Given the description of an element on the screen output the (x, y) to click on. 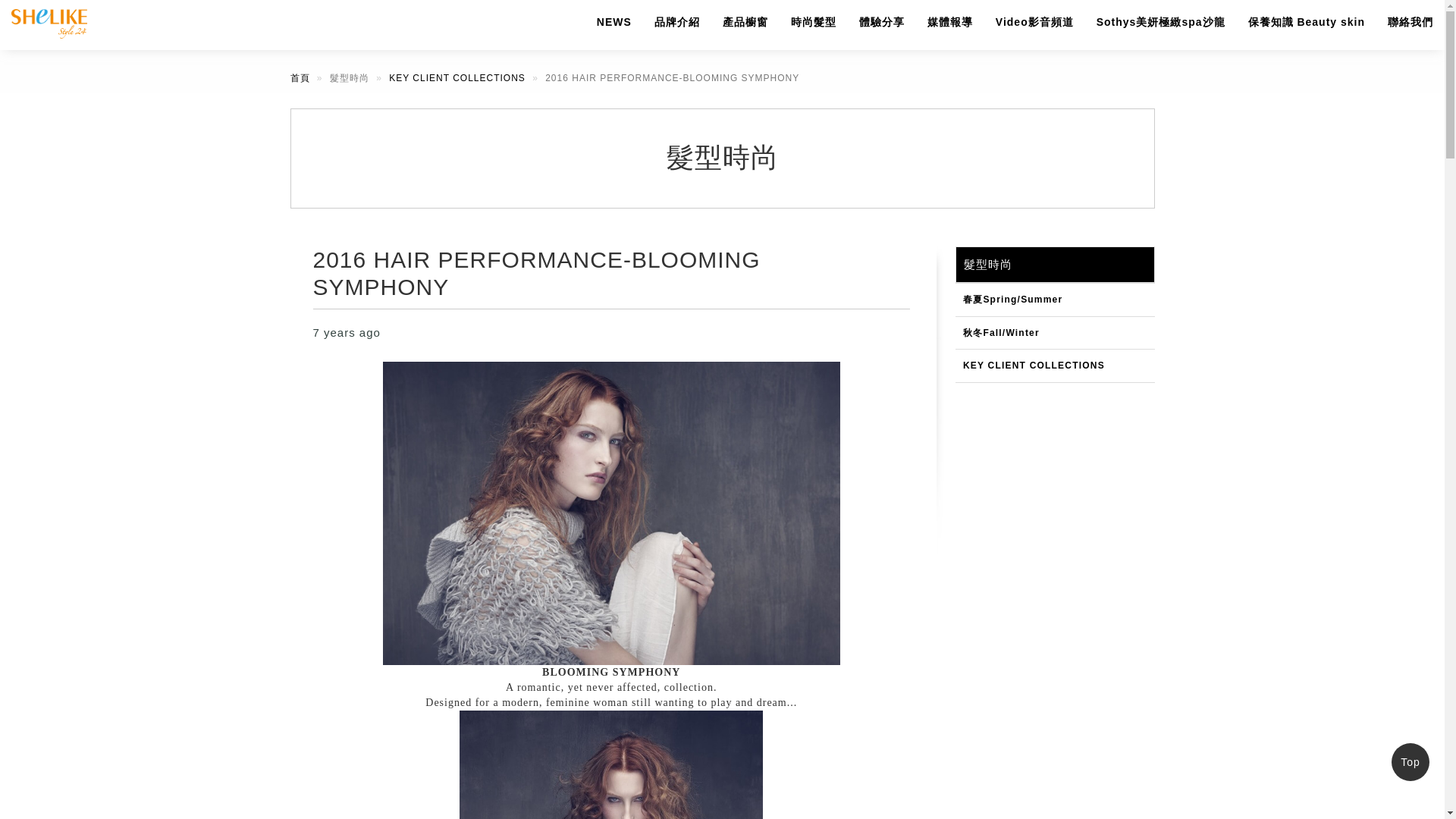
NEWS (613, 22)
